Given the description of an element on the screen output the (x, y) to click on. 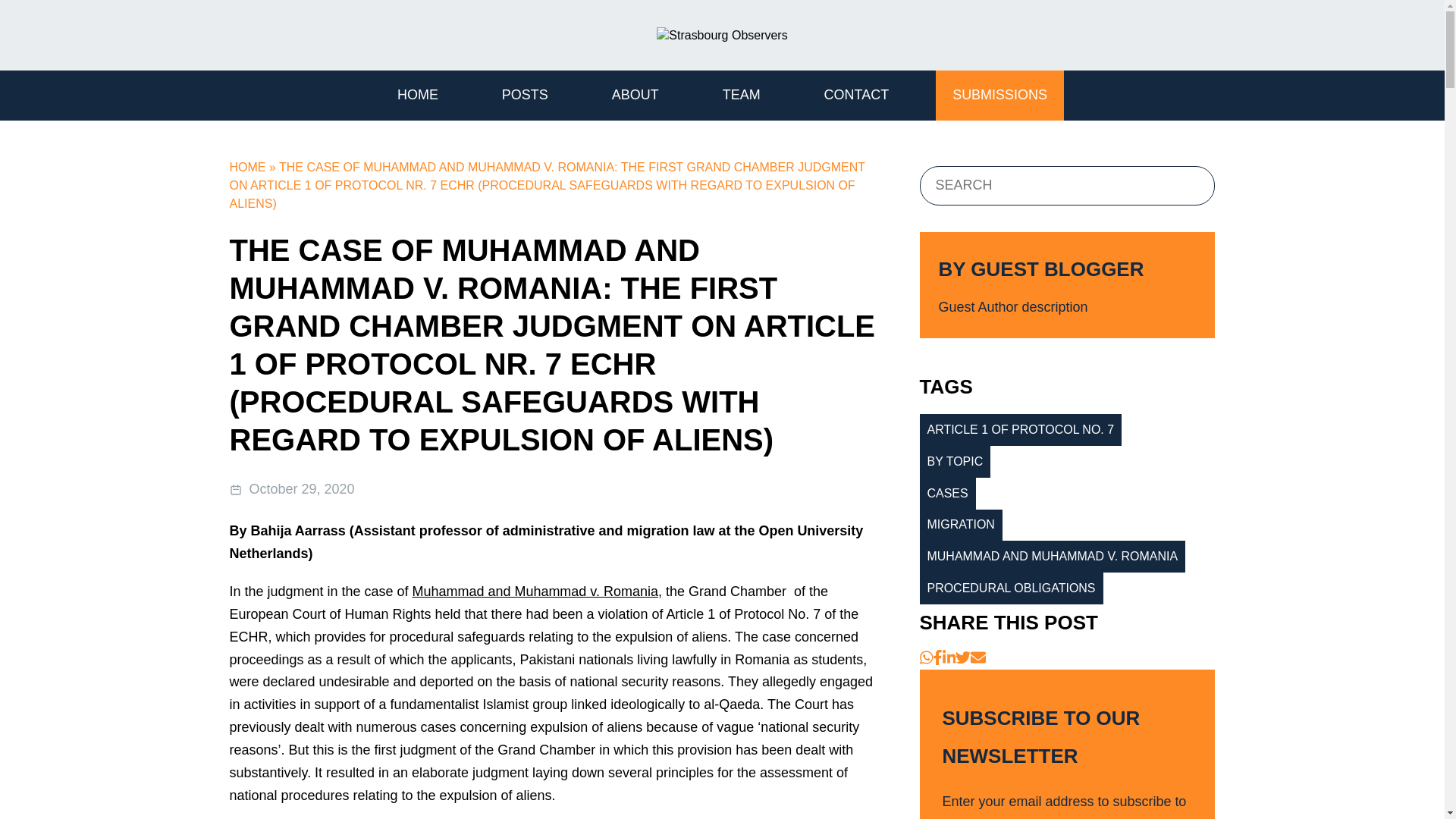
HOME (417, 95)
BY TOPIC (954, 461)
POSTS (524, 95)
TEAM (741, 95)
PROCEDURAL OBLIGATIONS (1010, 588)
SUBMISSIONS (1000, 95)
CASES (946, 493)
MUHAMMAD AND MUHAMMAD V. ROMANIA (1051, 556)
MIGRATION (959, 525)
Muhammad and Muhammad v. Romania (535, 590)
